Given the description of an element on the screen output the (x, y) to click on. 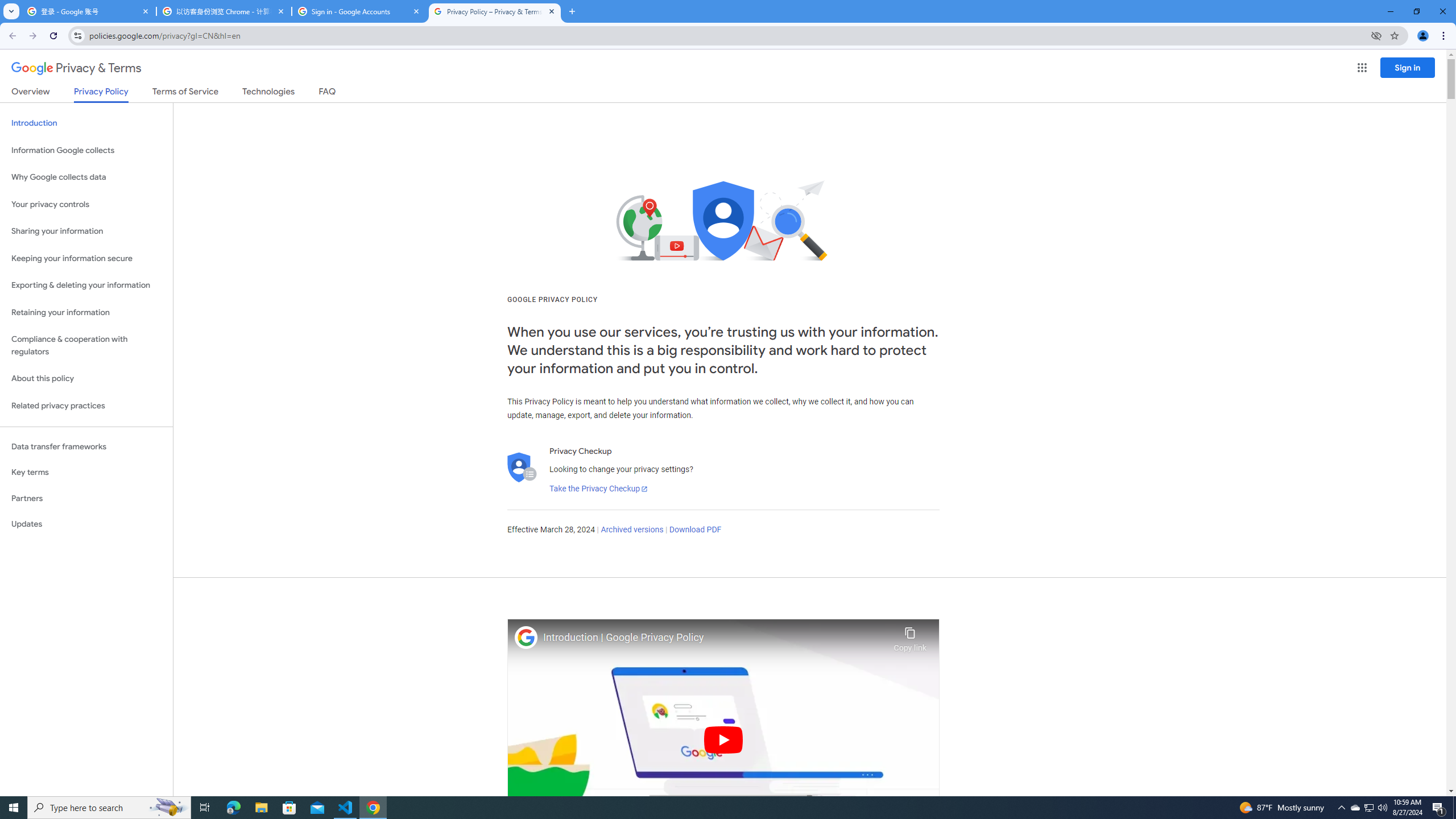
Keeping your information secure (86, 258)
Related privacy practices (86, 405)
Retaining your information (86, 312)
Download PDF (695, 529)
Sign in - Google Accounts (359, 11)
Play (723, 739)
